Given the description of an element on the screen output the (x, y) to click on. 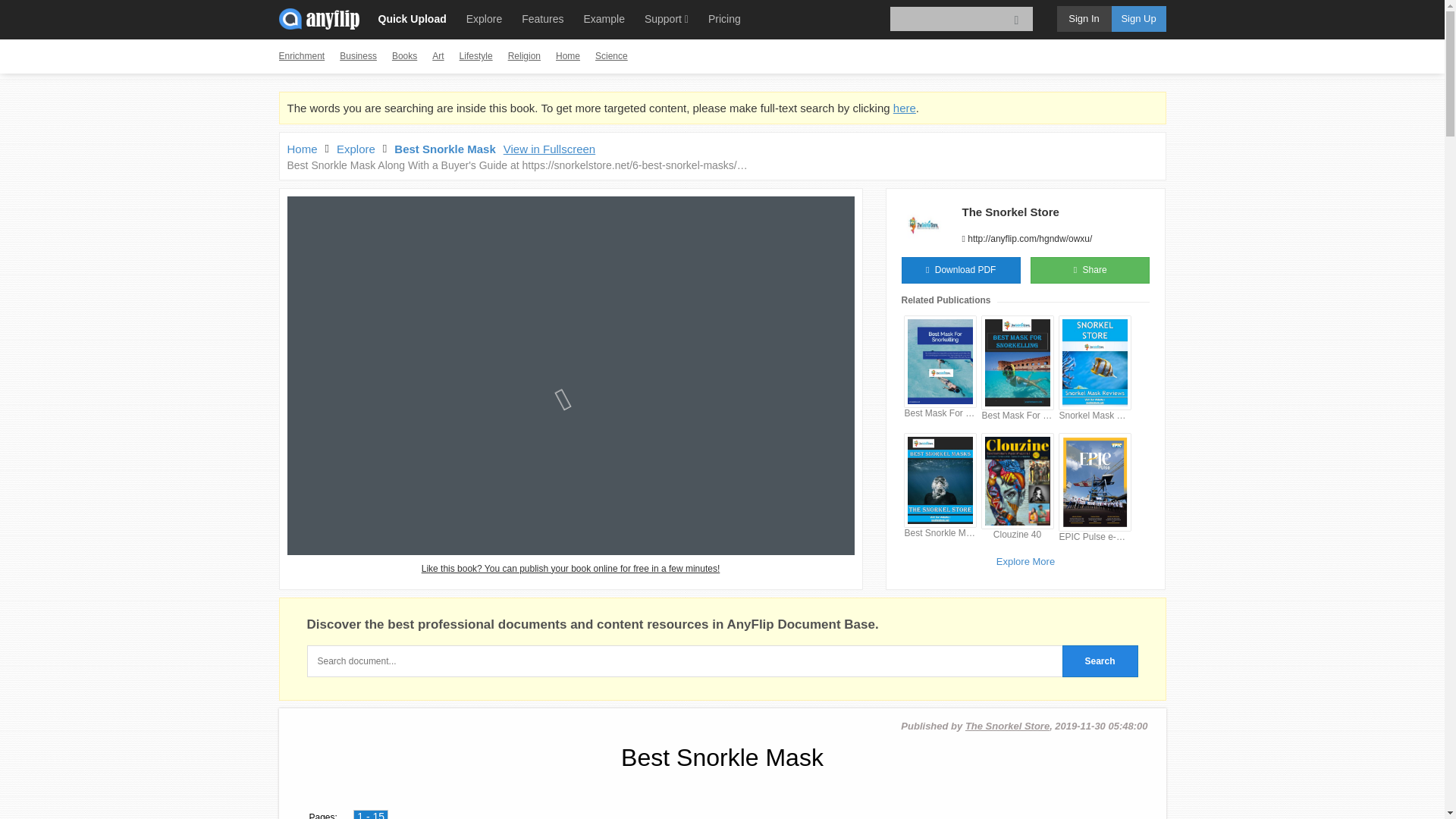
Support (666, 18)
Books (403, 55)
Visit its homepage (1009, 211)
Example (603, 18)
Best Mask For Snorkelling (1016, 415)
Best Snorkle Mask (444, 148)
Pricing (724, 18)
here (904, 107)
View in Fullscreen (549, 149)
Art (438, 55)
Business (358, 55)
Best Mask For Snorkelling (939, 413)
Features (541, 18)
Best Snorkle Mask (939, 533)
